Given the description of an element on the screen output the (x, y) to click on. 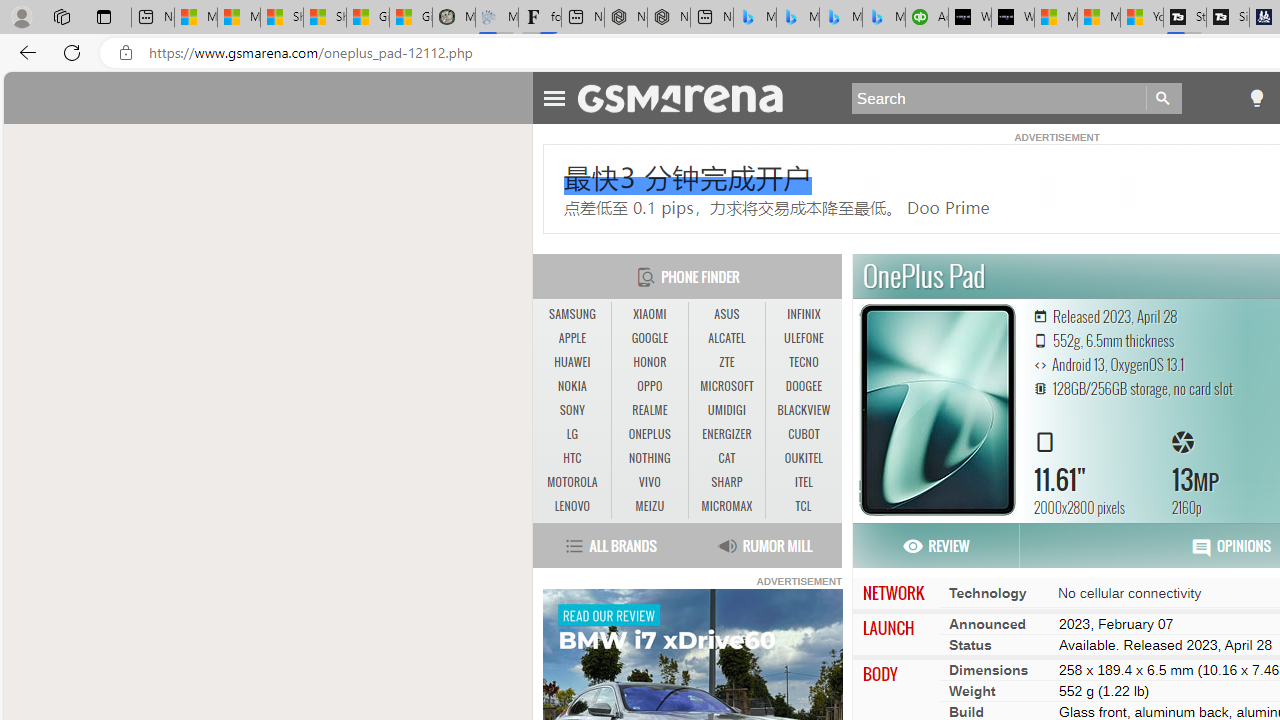
SHARP (726, 482)
BLACKVIEW (803, 411)
Announced (987, 623)
Weight (971, 690)
MOTOROLA (571, 482)
UMIDIGI (726, 410)
HUAWEI (571, 362)
Dimensions (988, 669)
REALME (649, 410)
